Given the description of an element on the screen output the (x, y) to click on. 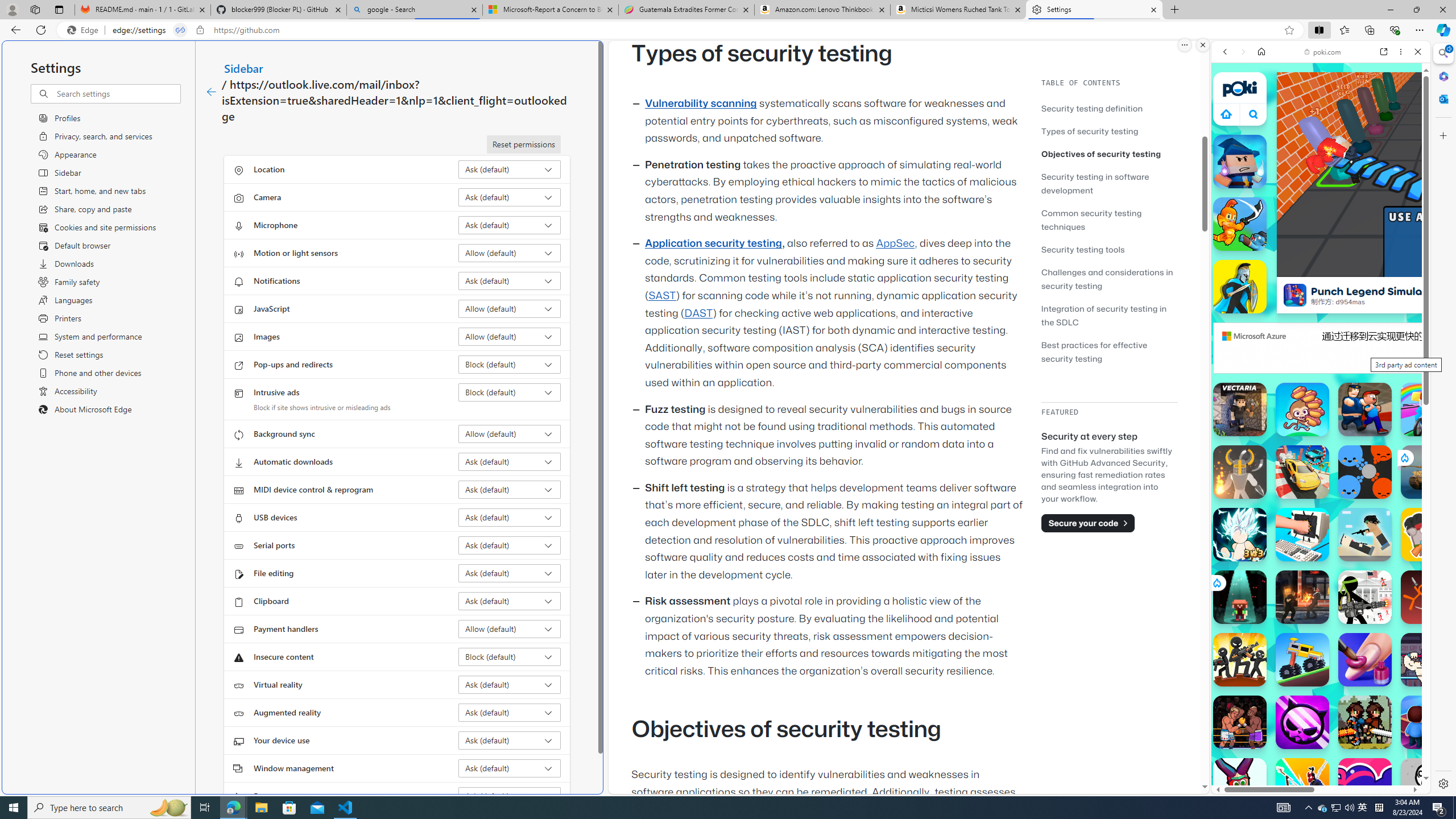
Clipboard Ask (default) (509, 601)
Common security testing techniques (1091, 219)
Escape From School (1364, 409)
Vectaria.io Vectaria.io (1239, 409)
Stick Defenders Stick Defenders (1239, 659)
Rowdy Wrestling (1427, 659)
Search results from poki.com (1299, 443)
Streets of Anarchy: Fists of War (1302, 597)
Security testing in software development (1109, 183)
Stick Fighter (1364, 784)
